Given the description of an element on the screen output the (x, y) to click on. 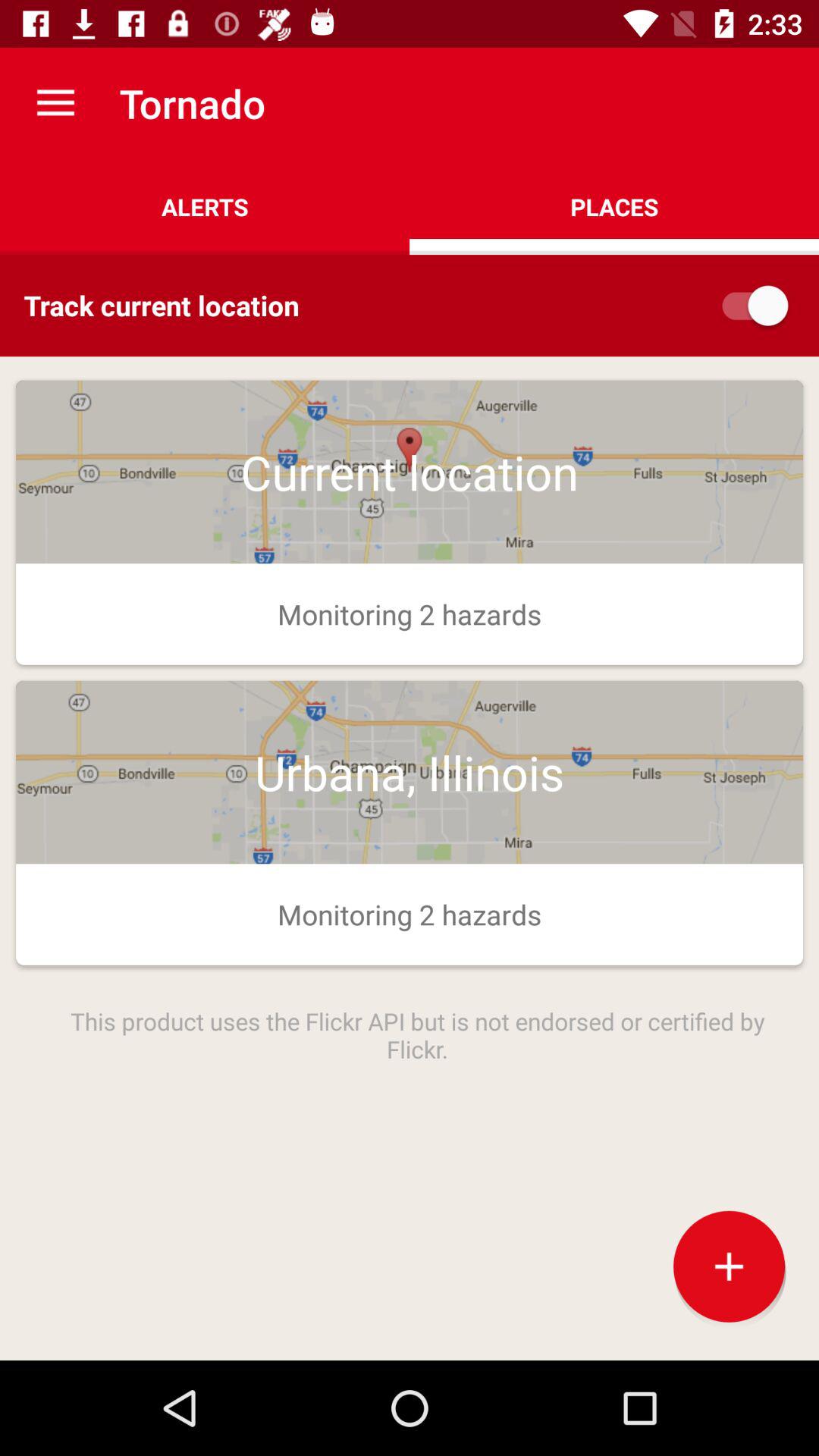
launch icon above track current location icon (204, 206)
